Given the description of an element on the screen output the (x, y) to click on. 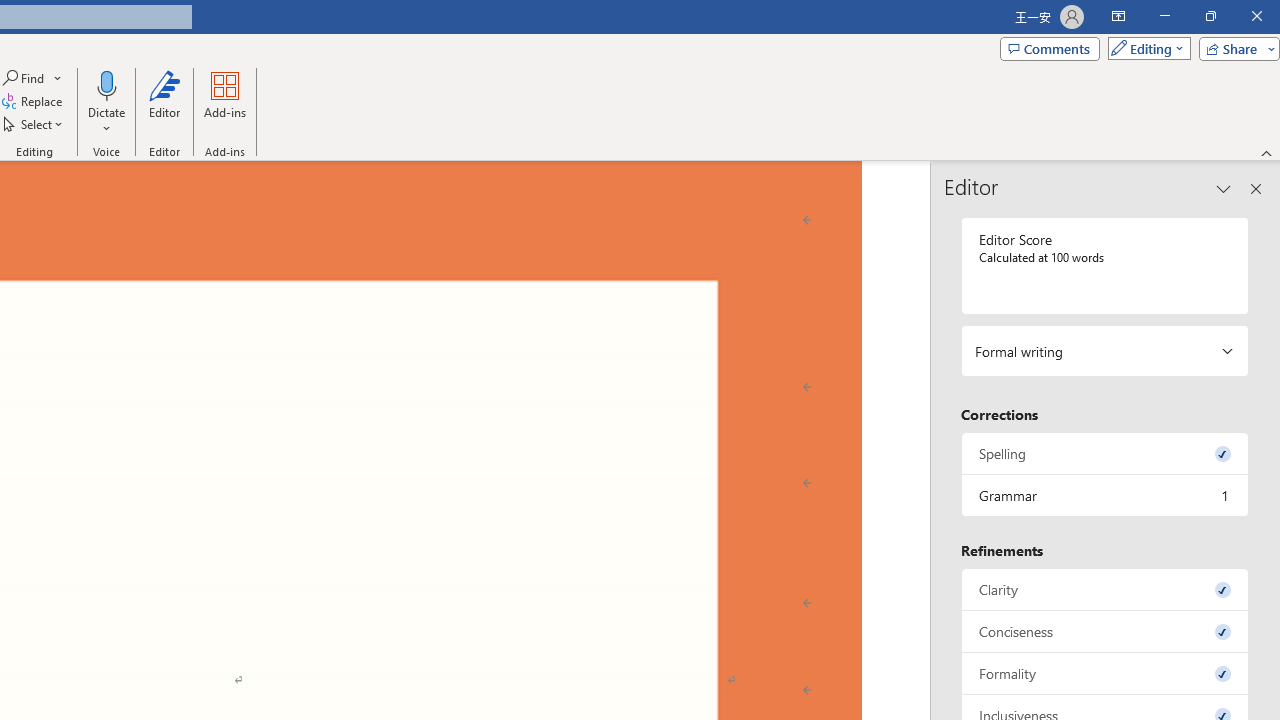
Spelling, 0 issues. Press space or enter to review items. (1105, 452)
Grammar, 1 issue. Press space or enter to review items. (1105, 495)
